Given the description of an element on the screen output the (x, y) to click on. 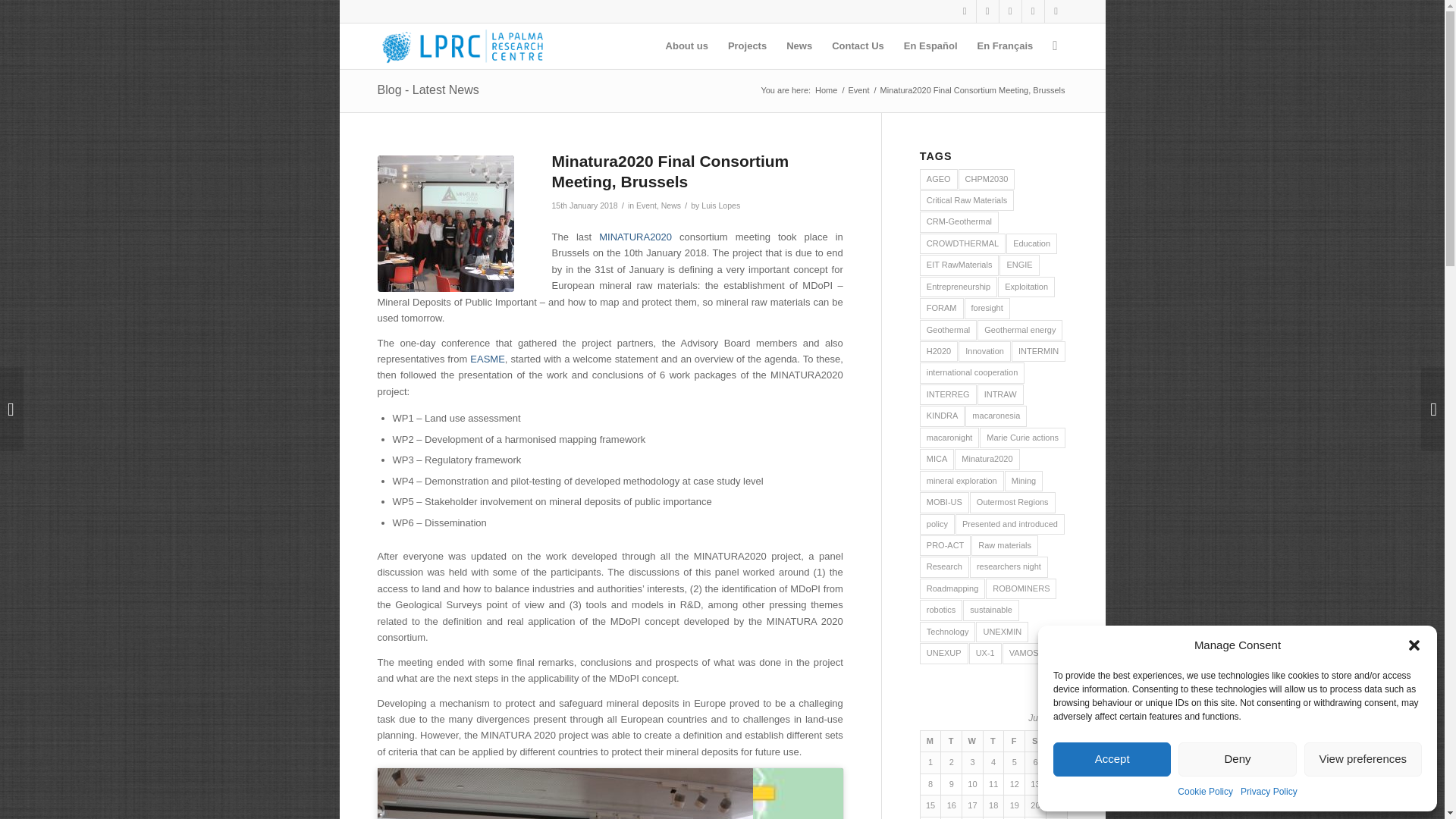
Group photo (445, 223)
About us (686, 45)
Permanent Link: Blog - Latest News (428, 89)
Posts by Luis Lopes (720, 204)
WP6 presentation (564, 793)
